Given the description of an element on the screen output the (x, y) to click on. 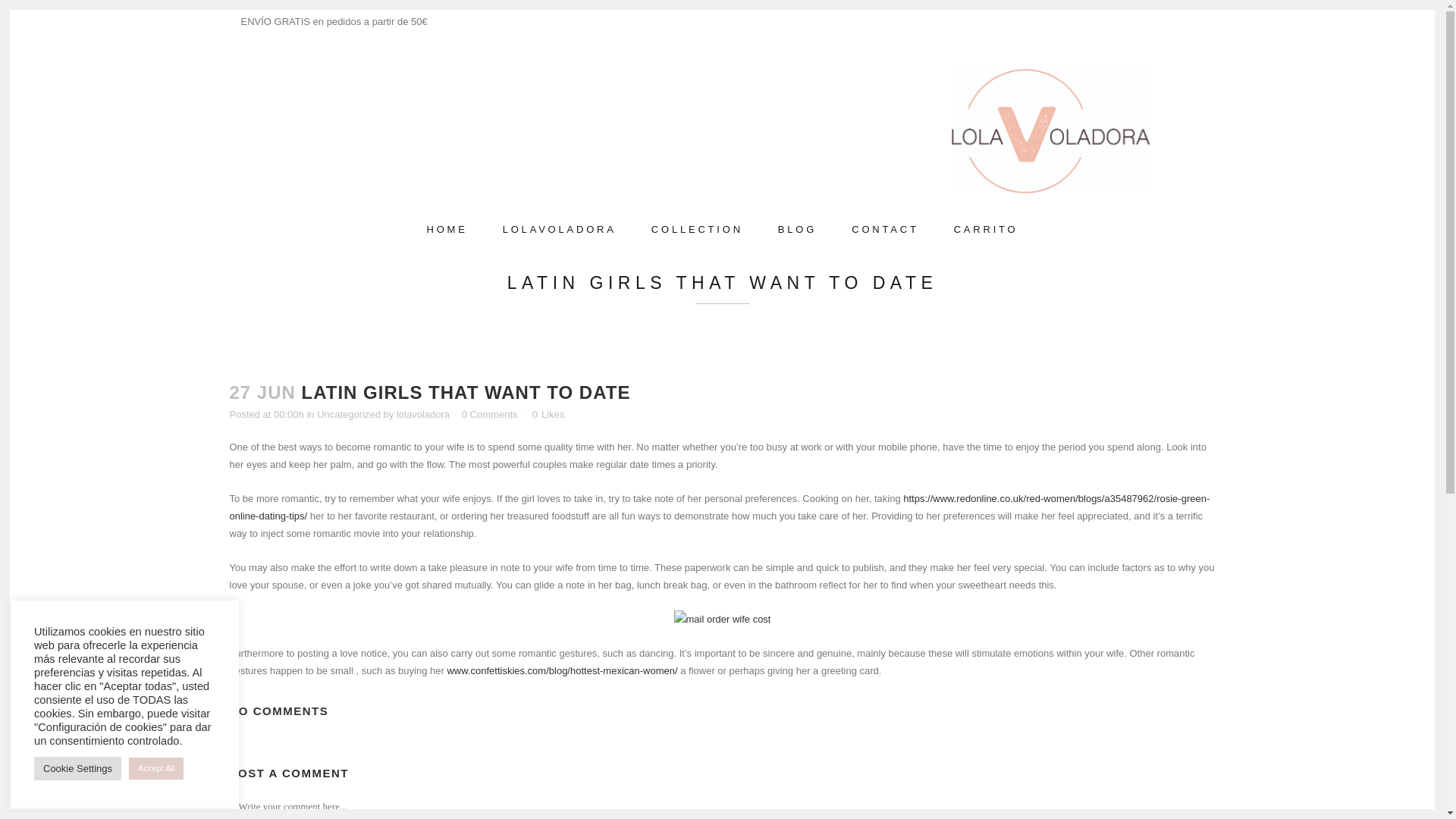
CONTACT (885, 229)
lolavoladora (422, 414)
Cookie Settings (76, 768)
HOME (446, 229)
Accept All (156, 768)
BLOG (797, 229)
0 Likes (548, 414)
0 Comments (489, 414)
Like this (548, 414)
COLLECTION (696, 229)
CARRITO (985, 229)
LOLAVOLADORA (558, 229)
Uncategorized (348, 414)
